Given the description of an element on the screen output the (x, y) to click on. 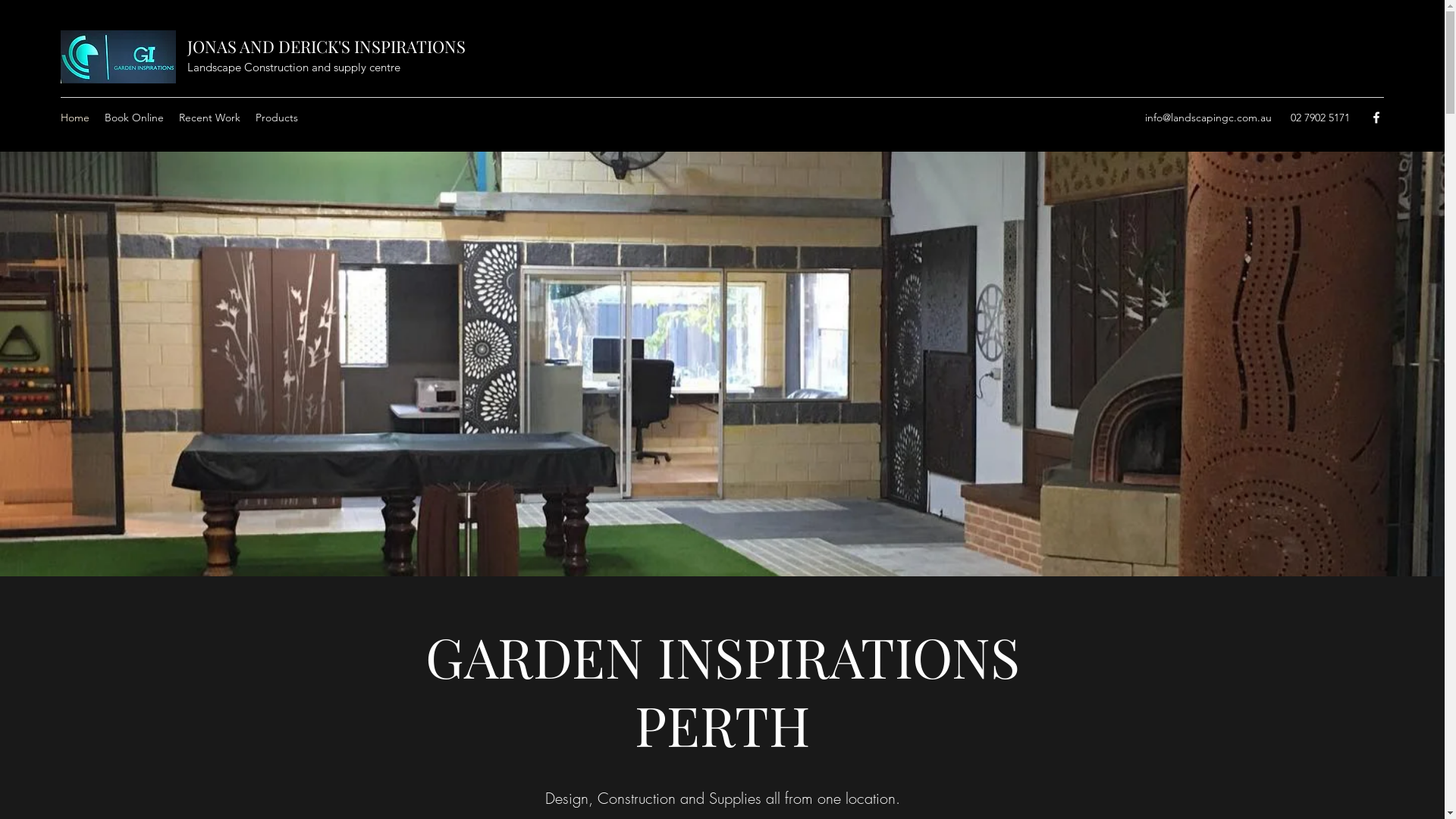
Home Element type: text (75, 117)
Book Online Element type: text (134, 117)
info@landscapingc.com.au Element type: text (1208, 117)
Products Element type: text (276, 117)
JONAS AND DERICK'S INSPIRATIONS Element type: text (326, 45)
Recent Work Element type: text (209, 117)
